Given the description of an element on the screen output the (x, y) to click on. 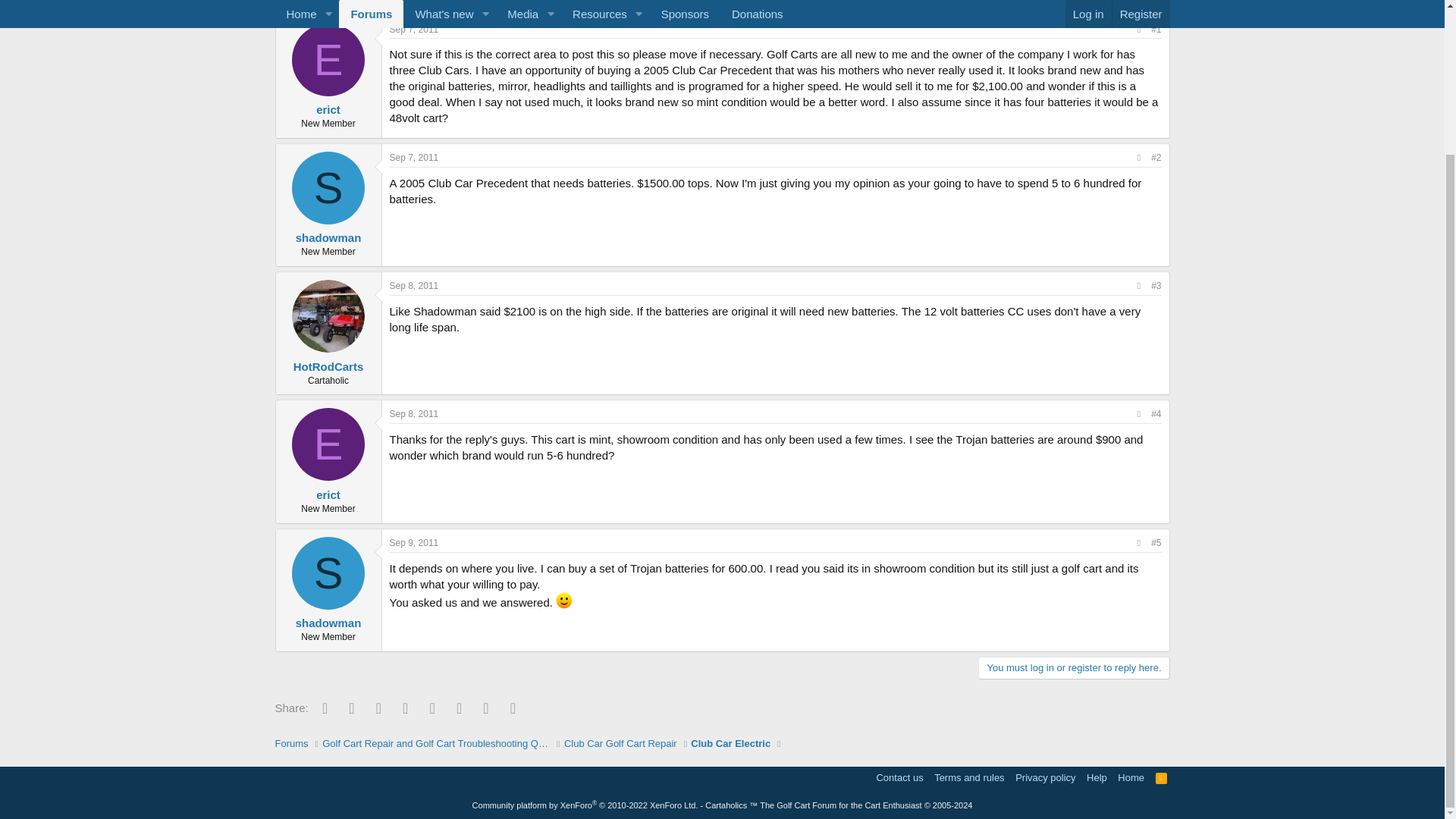
RSS (1161, 777)
Sep 9, 2011 at 7:34 AM (414, 542)
Sep 7, 2011 at 5:29 PM (341, 2)
Sep 7, 2011 at 5:29 PM (414, 29)
Sep 7, 2011 at 9:31 PM (414, 157)
Sep 8, 2011 at 7:18 AM (414, 285)
Sep 8, 2011 at 5:03 PM (414, 413)
